Given the description of an element on the screen output the (x, y) to click on. 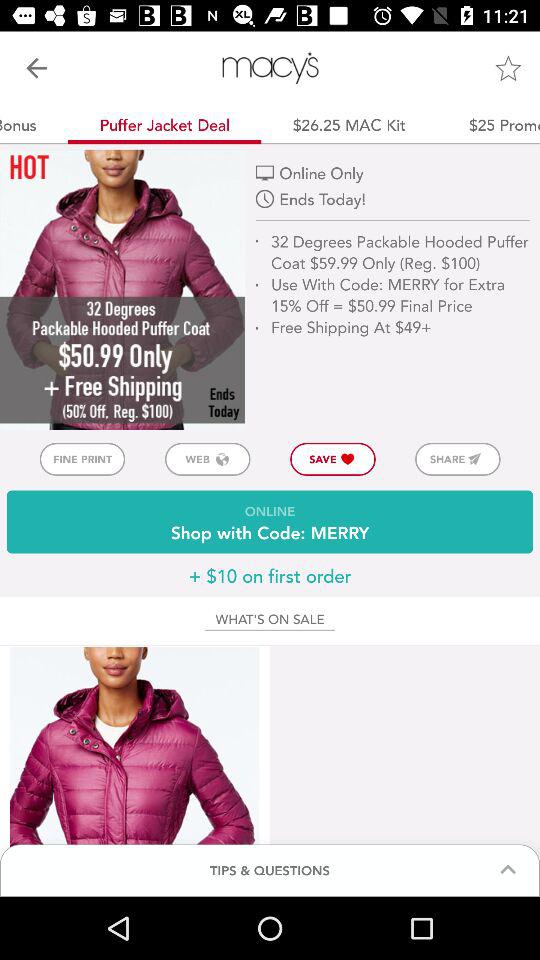
turn on the icon below 32 degrees packable item (457, 458)
